Given the description of an element on the screen output the (x, y) to click on. 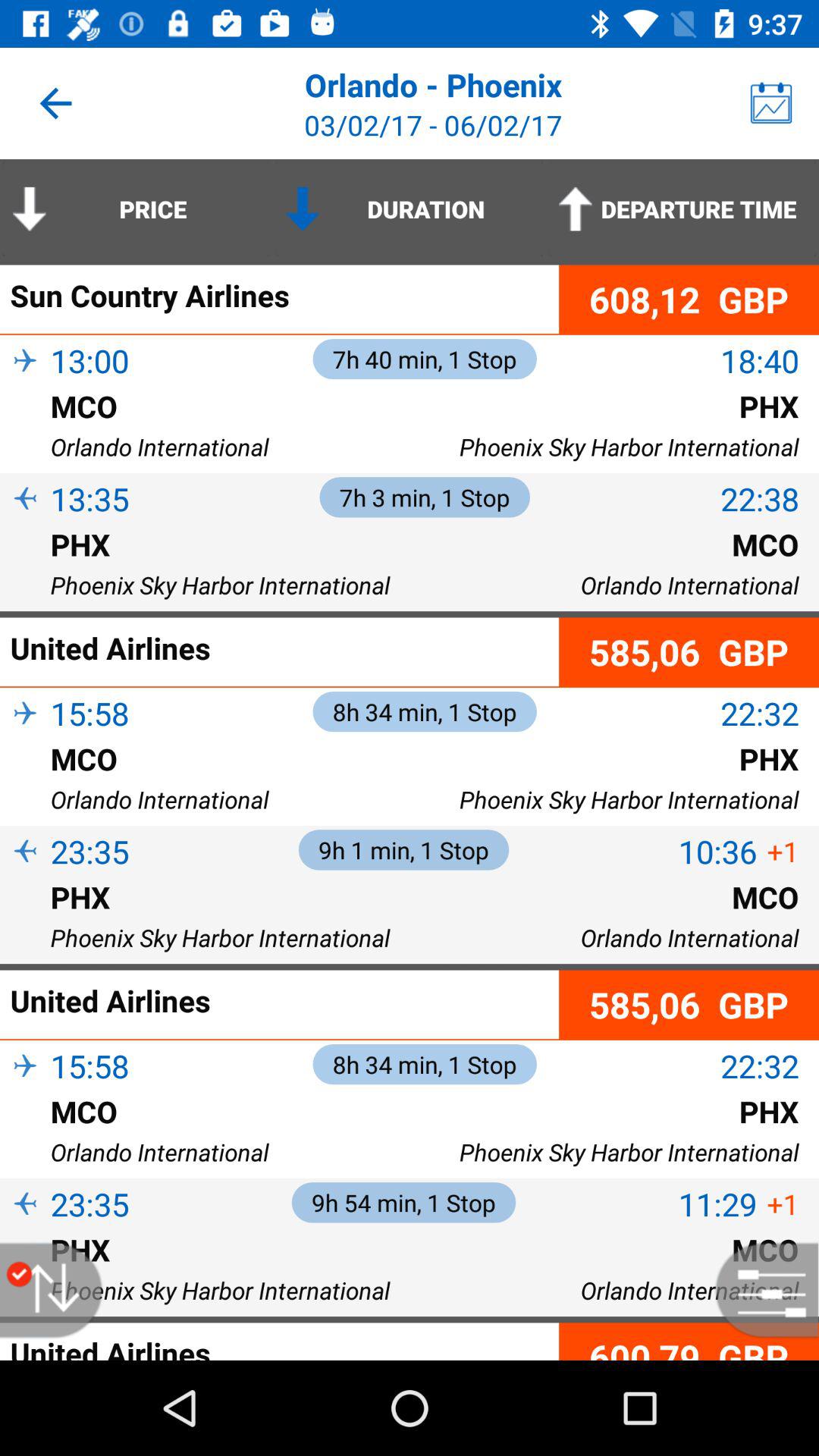
choose icon below 15:58 item (25, 1091)
